Given the description of an element on the screen output the (x, y) to click on. 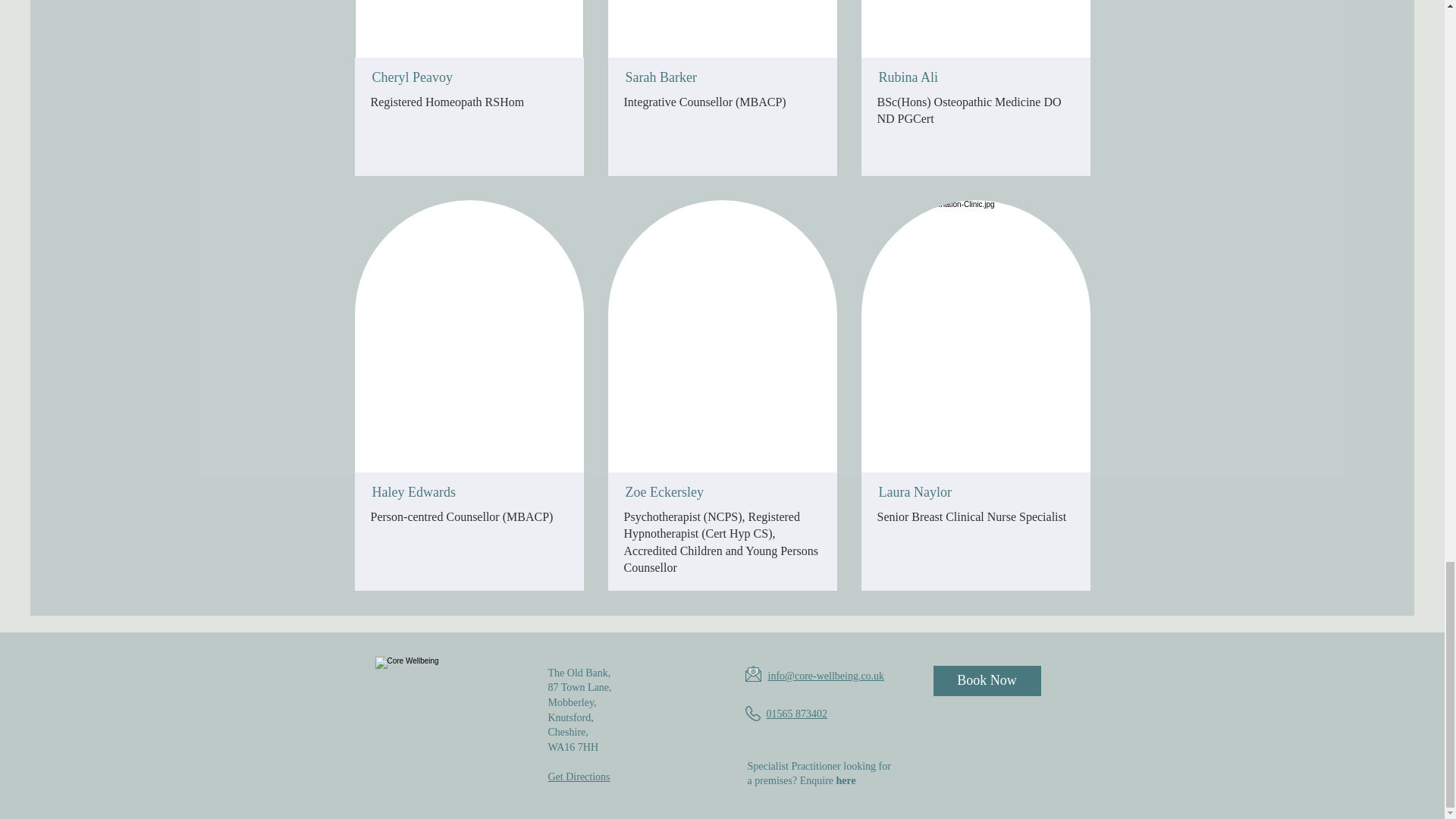
here (845, 780)
Get Directions (578, 776)
core logo.png (442, 724)
01565 873402 (796, 713)
Book Now (987, 680)
